Given the description of an element on the screen output the (x, y) to click on. 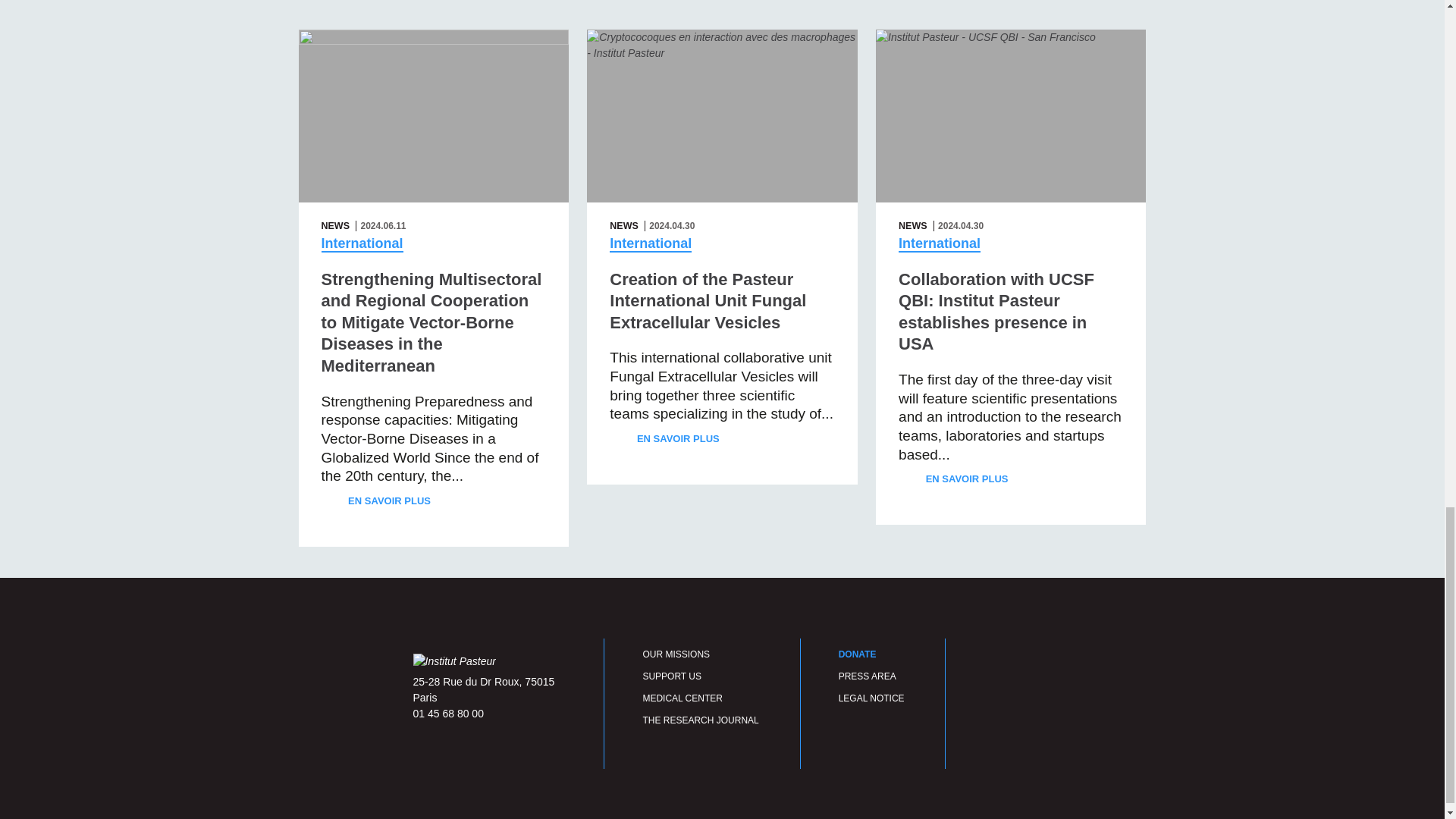
Institut Pasteur (453, 661)
Institut Pasteur - UCSF QBI - San Francisco (1010, 114)
